Given the description of an element on the screen output the (x, y) to click on. 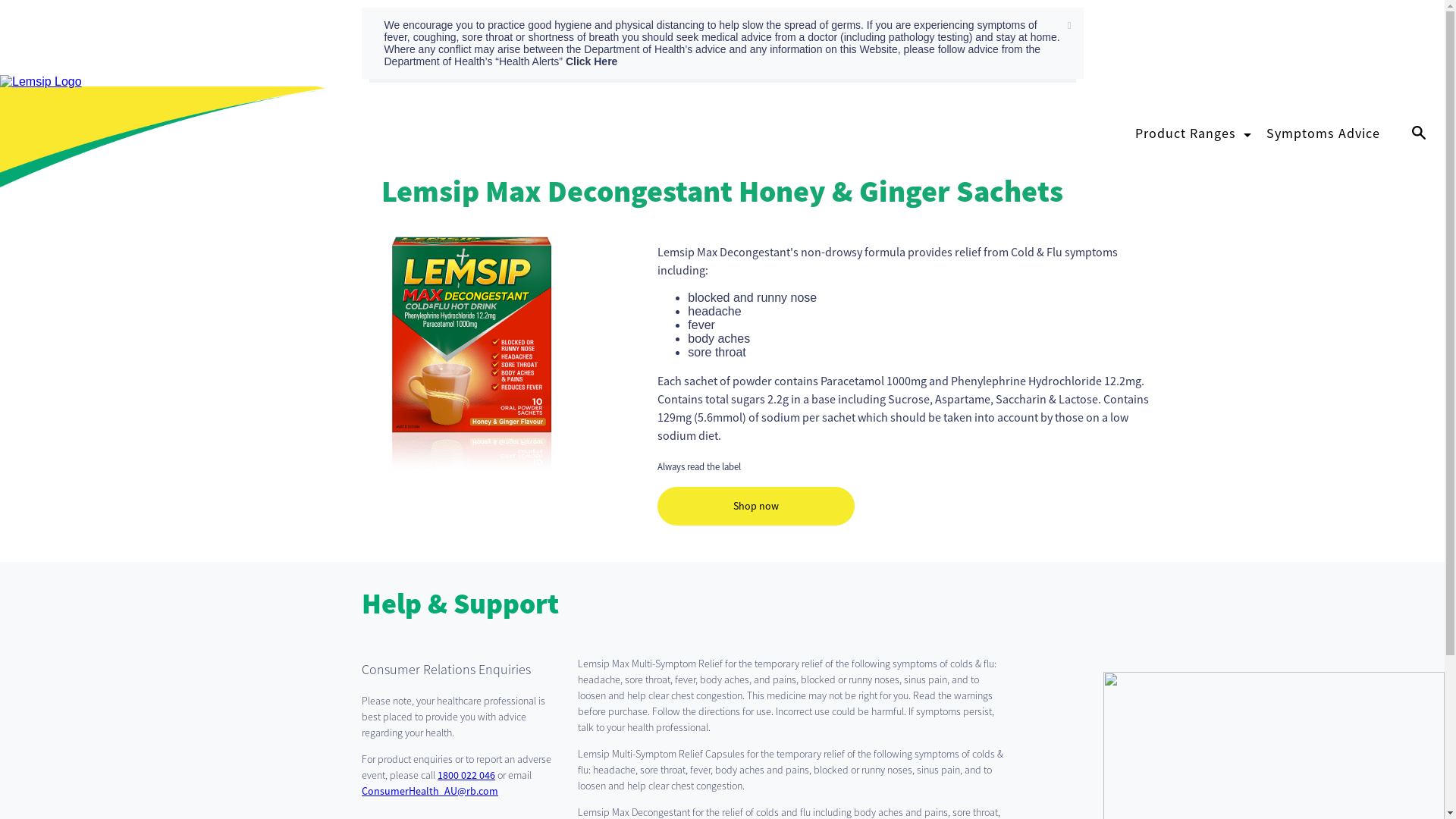
Click Here Element type: text (591, 61)
Shop now Element type: text (755, 505)
1800 022 046 Element type: text (466, 774)
Product Ranges Element type: text (1185, 132)
Symptoms Advice Element type: text (1323, 132)
ConsumerHealth_AU@rb.com Element type: text (429, 790)
